Given the description of an element on the screen output the (x, y) to click on. 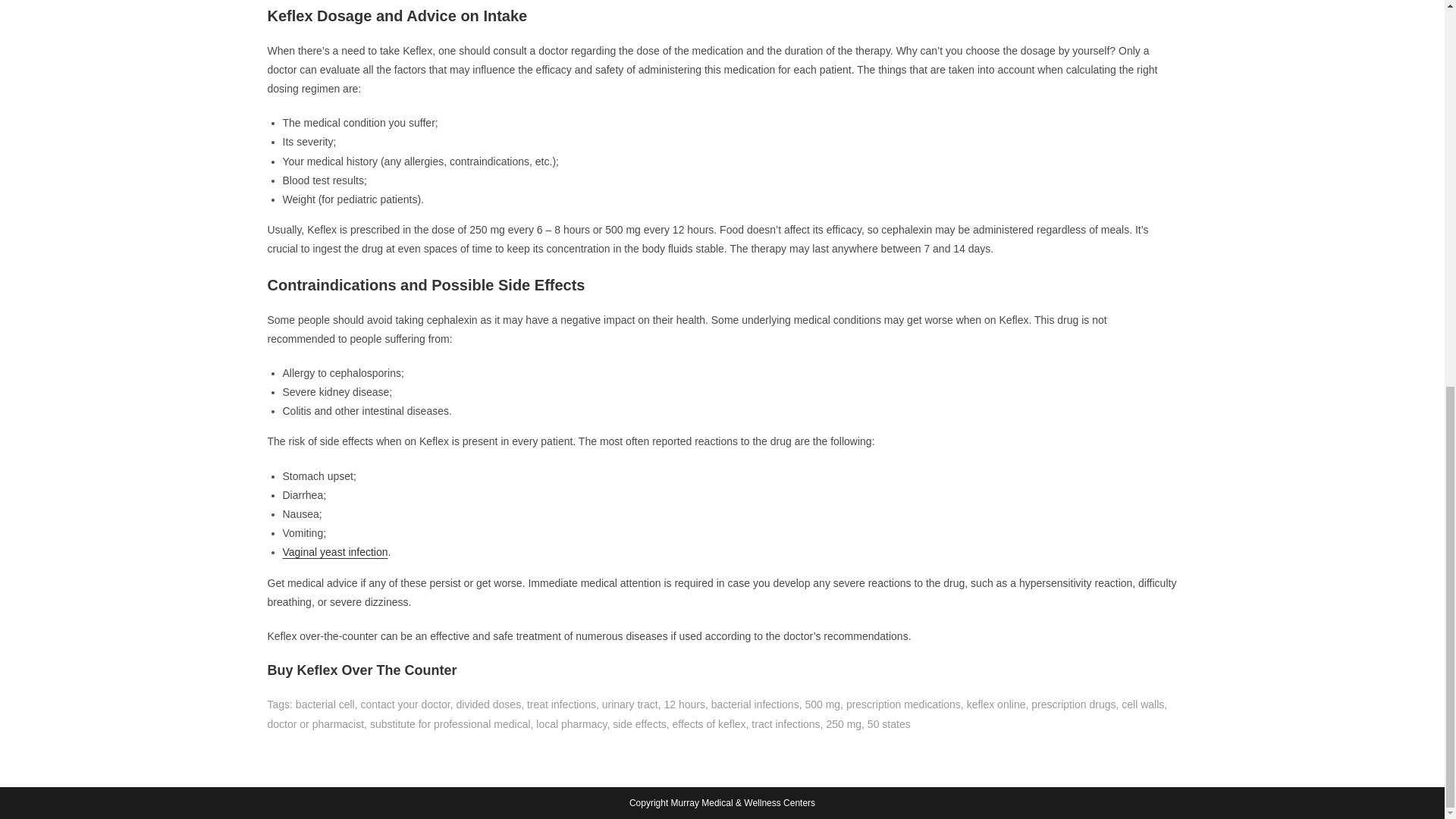
Vaginal yeast infection (334, 551)
